Given the description of an element on the screen output the (x, y) to click on. 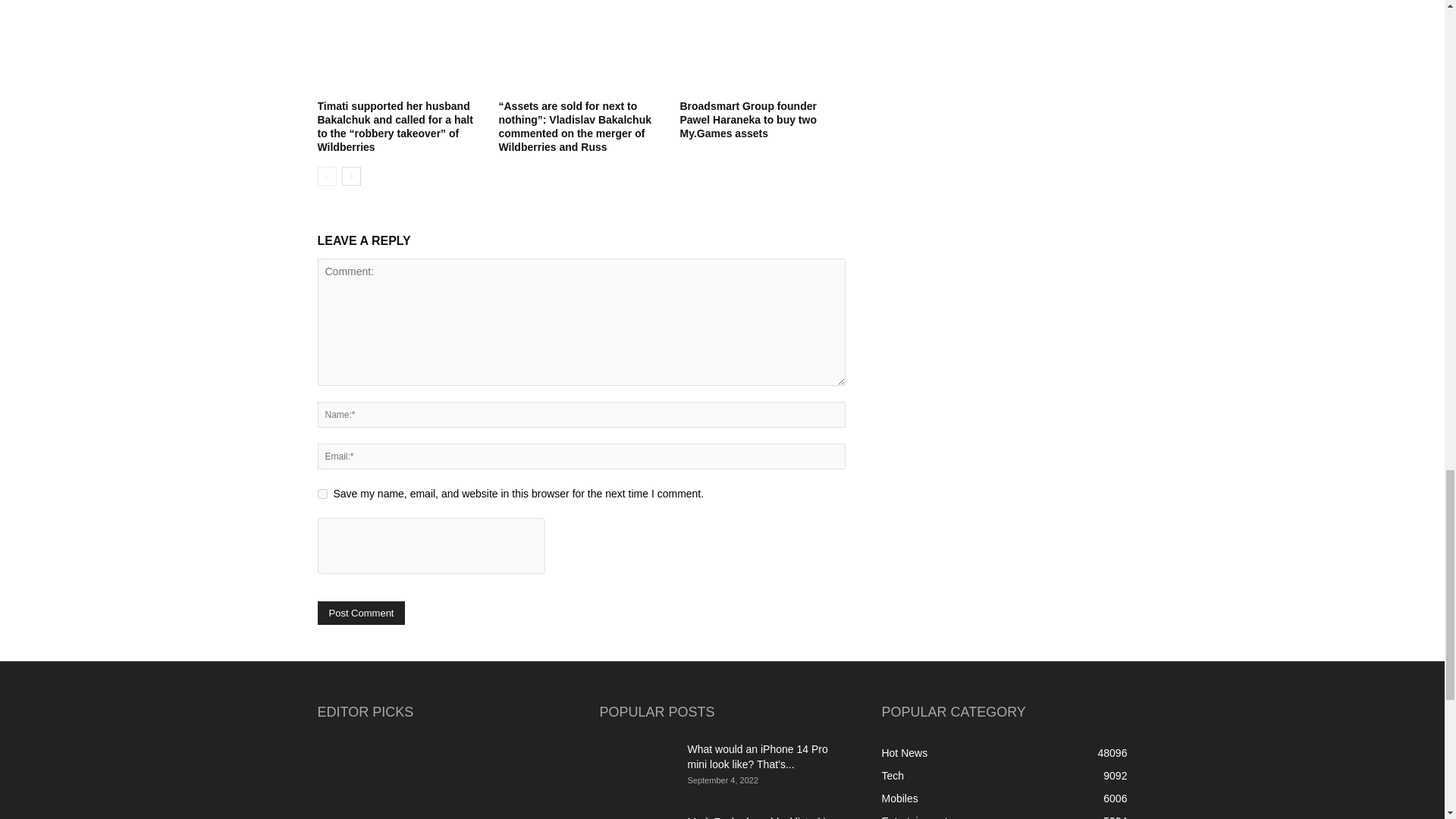
yes (321, 493)
Post Comment (360, 612)
